Given the description of an element on the screen output the (x, y) to click on. 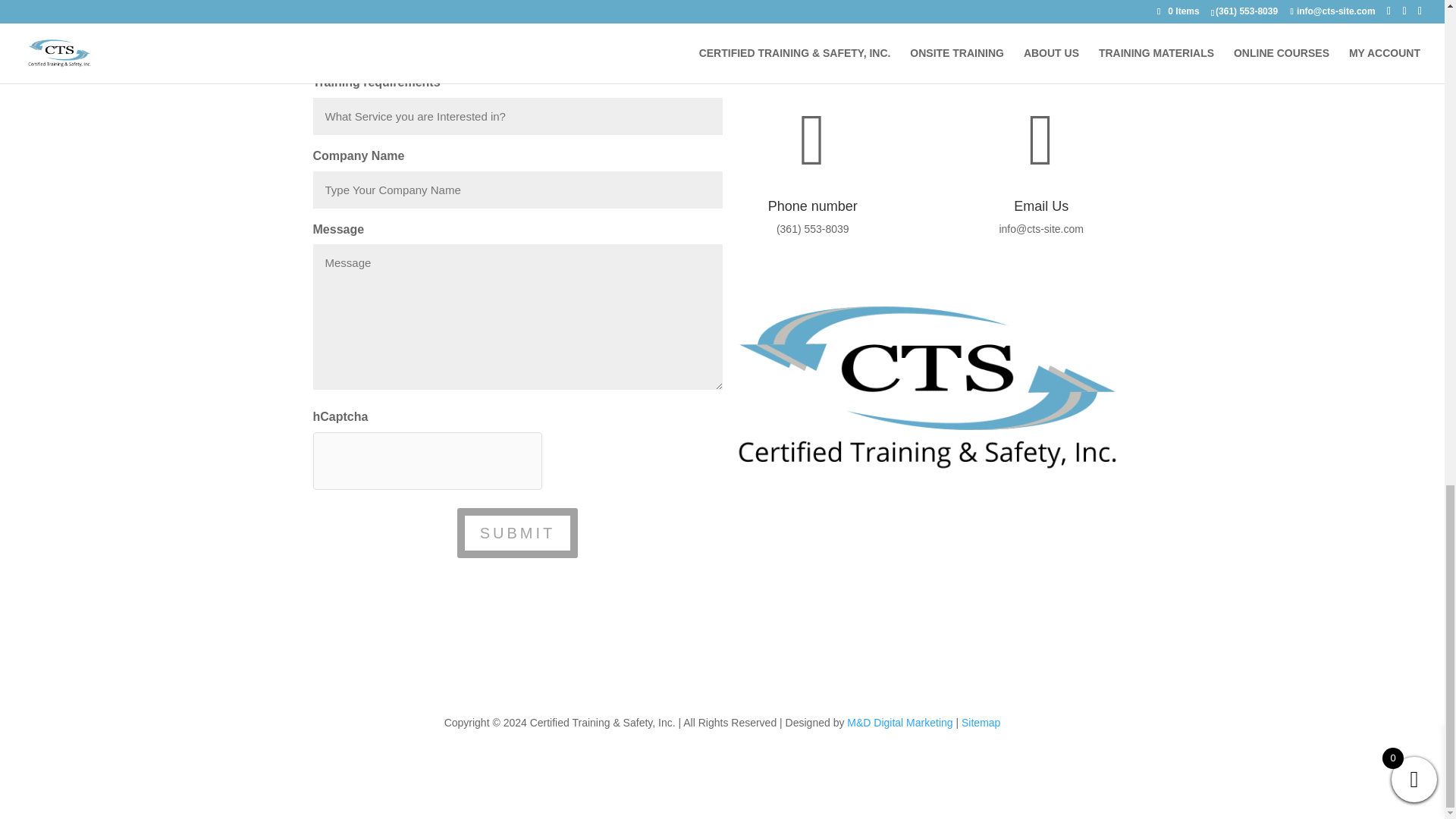
Sitemap (980, 722)
SUBMIT (517, 532)
CTSLogo2021 (926, 386)
